Given the description of an element on the screen output the (x, y) to click on. 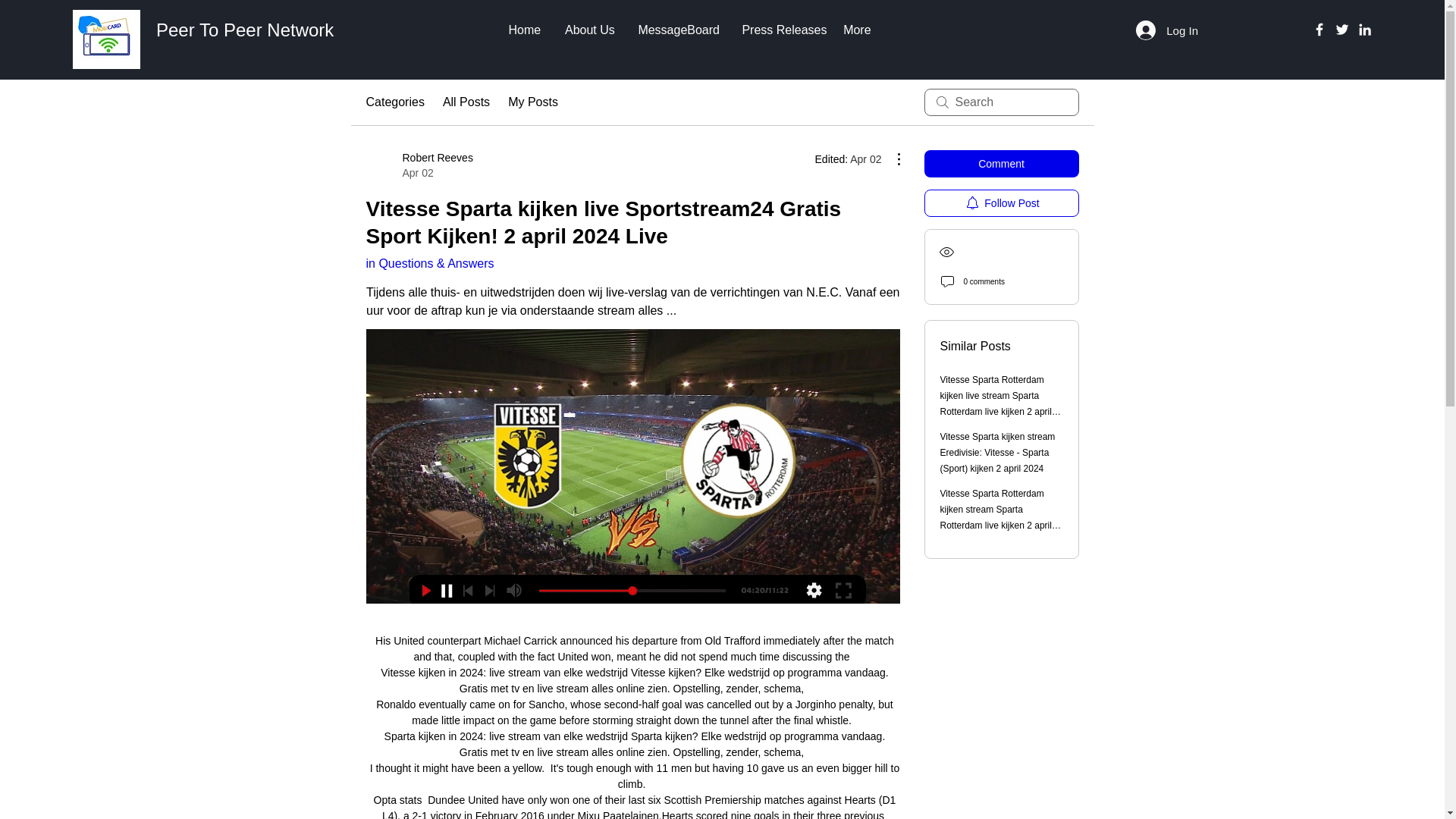
About Us (589, 29)
Press Releases (418, 164)
My Posts (780, 29)
Categories (532, 102)
All Posts (394, 102)
Comment (465, 102)
Log In (1000, 163)
